Given the description of an element on the screen output the (x, y) to click on. 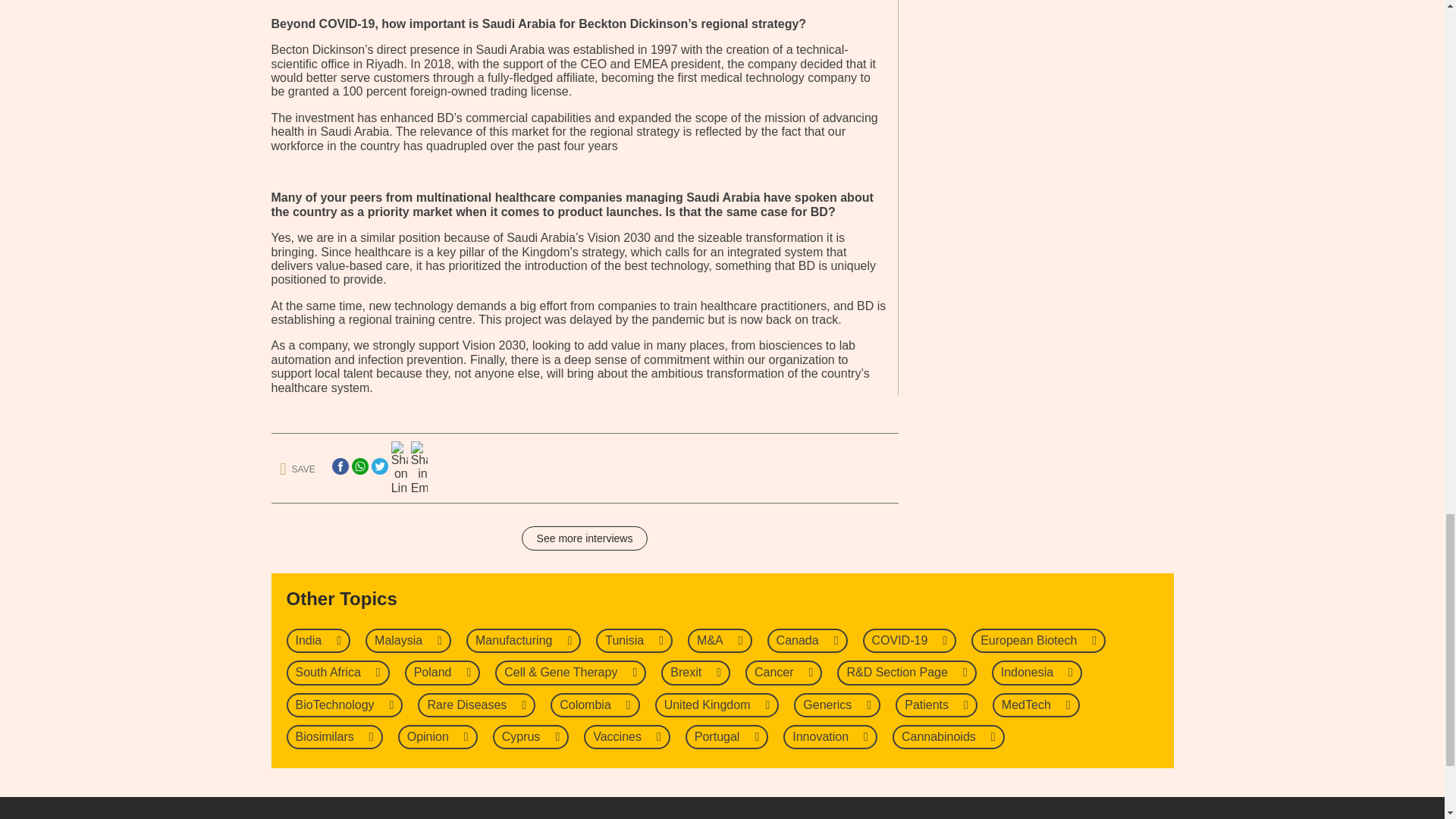
Twitter (379, 466)
Facebook (340, 466)
WhatsApp (360, 466)
